Given the description of an element on the screen output the (x, y) to click on. 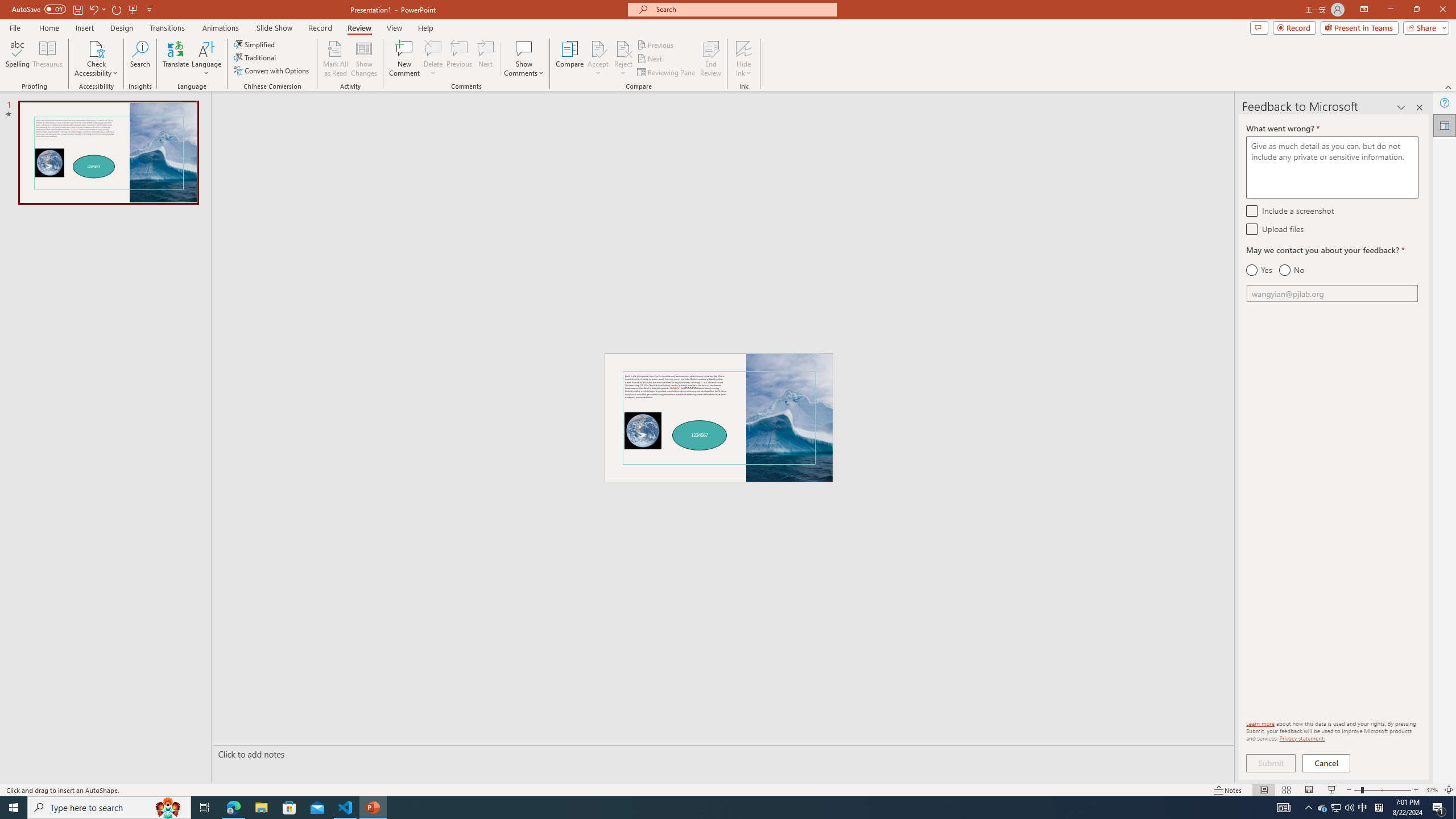
Yes (1259, 269)
More Options (743, 68)
Animations (220, 28)
Insert (83, 28)
Save (77, 9)
What went wrong? * (1332, 167)
Zoom 32% (1431, 790)
Comments (1259, 27)
File Tab (15, 27)
Check Accessibility (95, 58)
Reject (622, 58)
Close pane (1419, 107)
Thesaurus... (47, 58)
Spelling... (17, 58)
Design (122, 28)
